Given the description of an element on the screen output the (x, y) to click on. 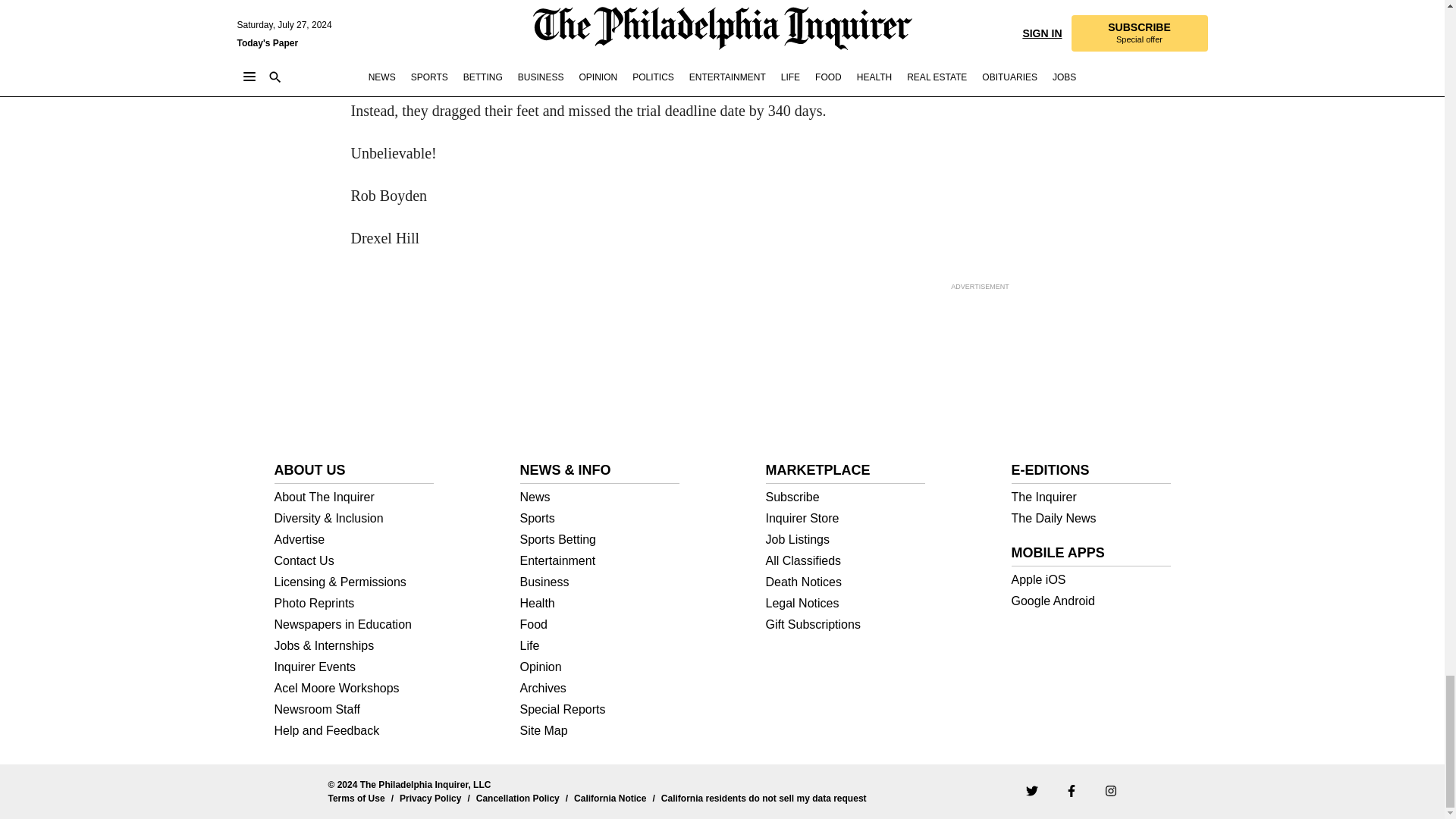
Advertise (354, 539)
Contact Us (354, 561)
Photo Reprints (354, 603)
Instagram (1109, 789)
About The Inquirer (354, 497)
Twitter (1030, 789)
Facebook (1070, 789)
